Given the description of an element on the screen output the (x, y) to click on. 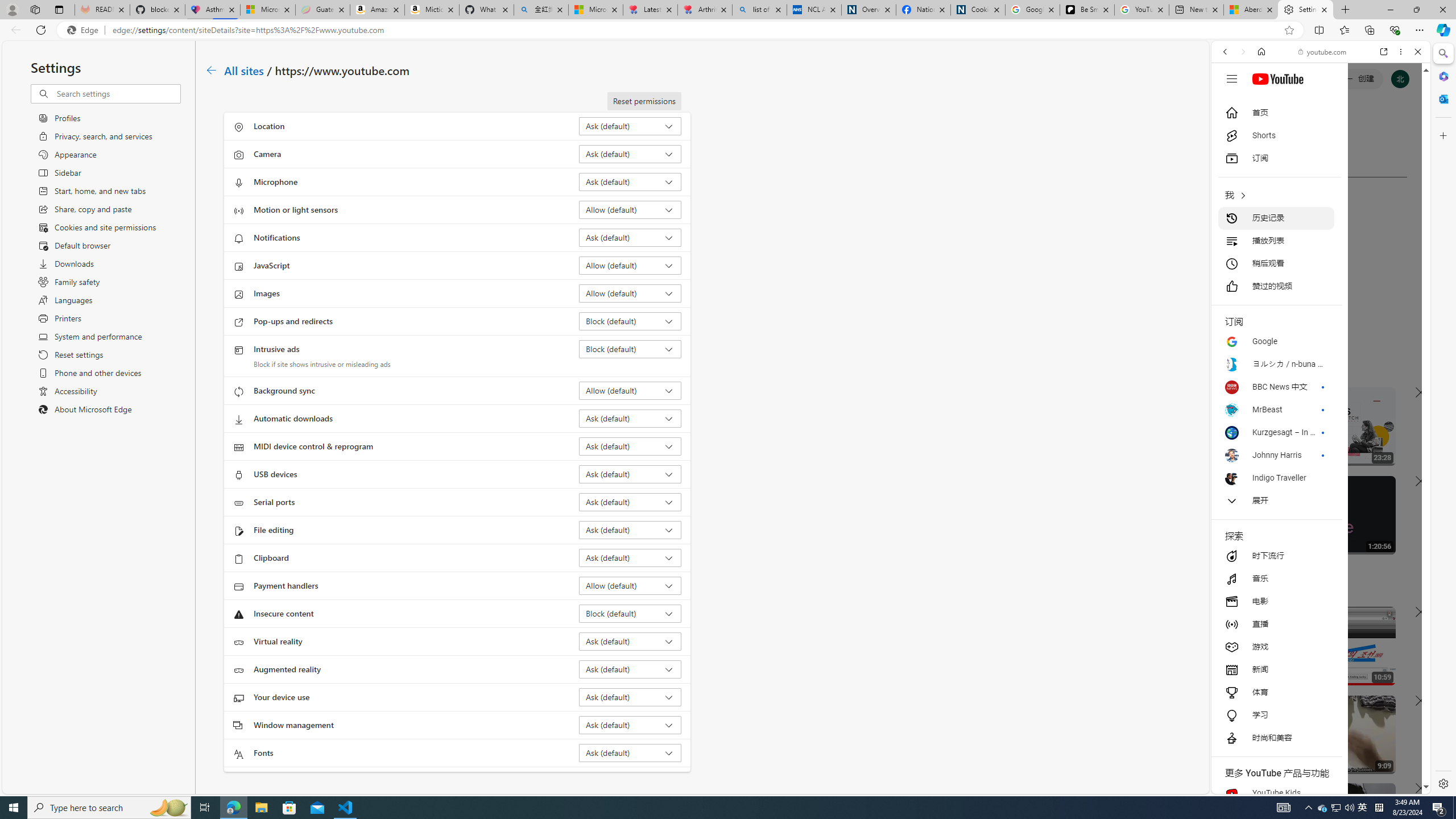
youtube.com (1322, 51)
Indigo Traveller (1275, 477)
AutomationID: button (1231, 78)
Fonts Ask (default) (630, 752)
Asthma Inhalers: Names and Types (212, 9)
